Given the description of an element on the screen output the (x, y) to click on. 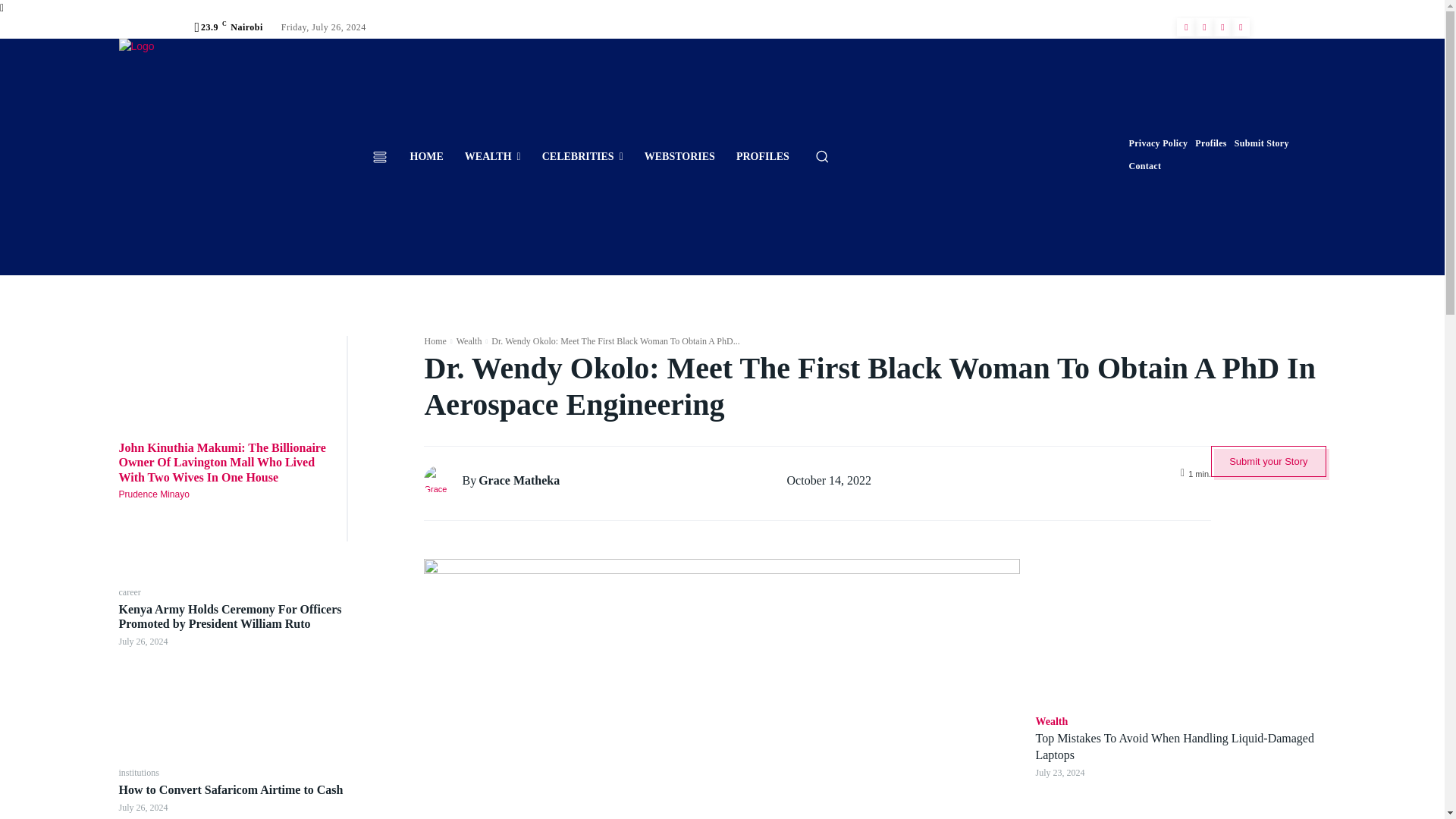
Facebook (1185, 27)
Twitter (1221, 27)
Youtube (1240, 27)
Instagram (1203, 27)
